Given the description of an element on the screen output the (x, y) to click on. 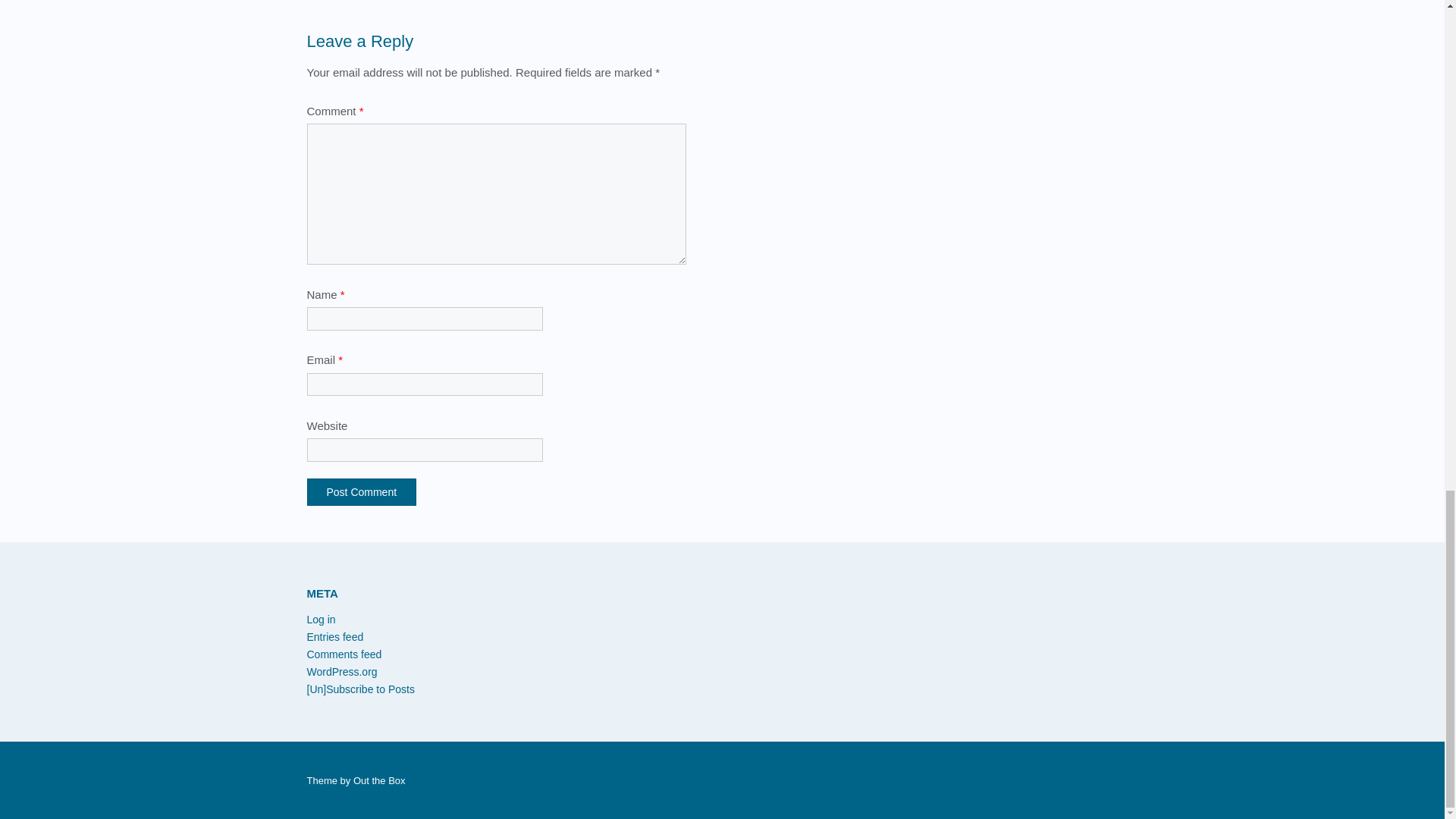
Post Comment (360, 492)
Post Comment (360, 492)
